Given the description of an element on the screen output the (x, y) to click on. 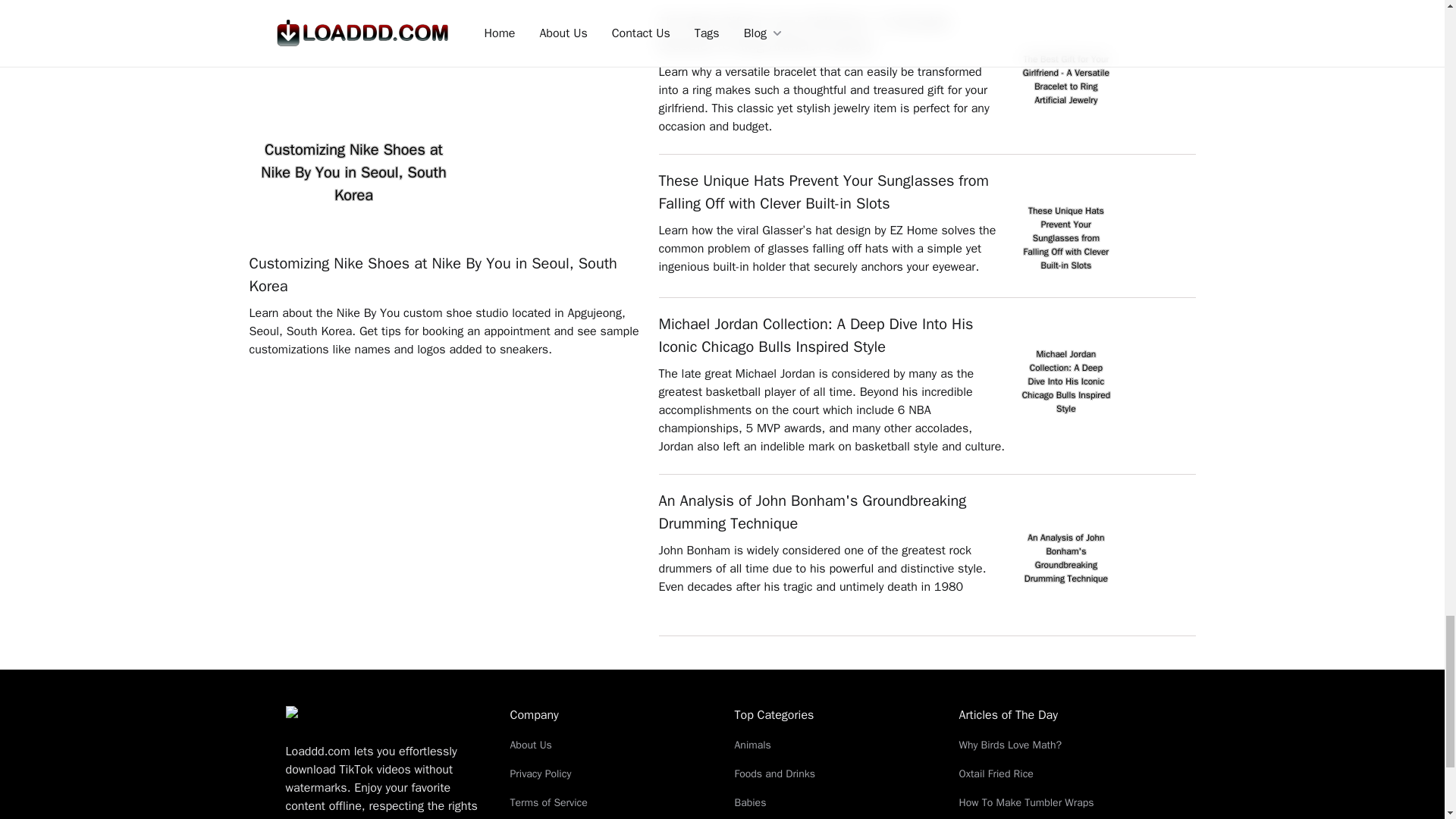
Terms of Service (609, 802)
Top Categories (833, 714)
Privacy Policy (609, 774)
About Us (609, 744)
Foods and Drinks (833, 774)
Animals (833, 744)
Customizing Nike Shoes at Nike By You in Seoul, South Korea (445, 275)
Company (609, 714)
